Given the description of an element on the screen output the (x, y) to click on. 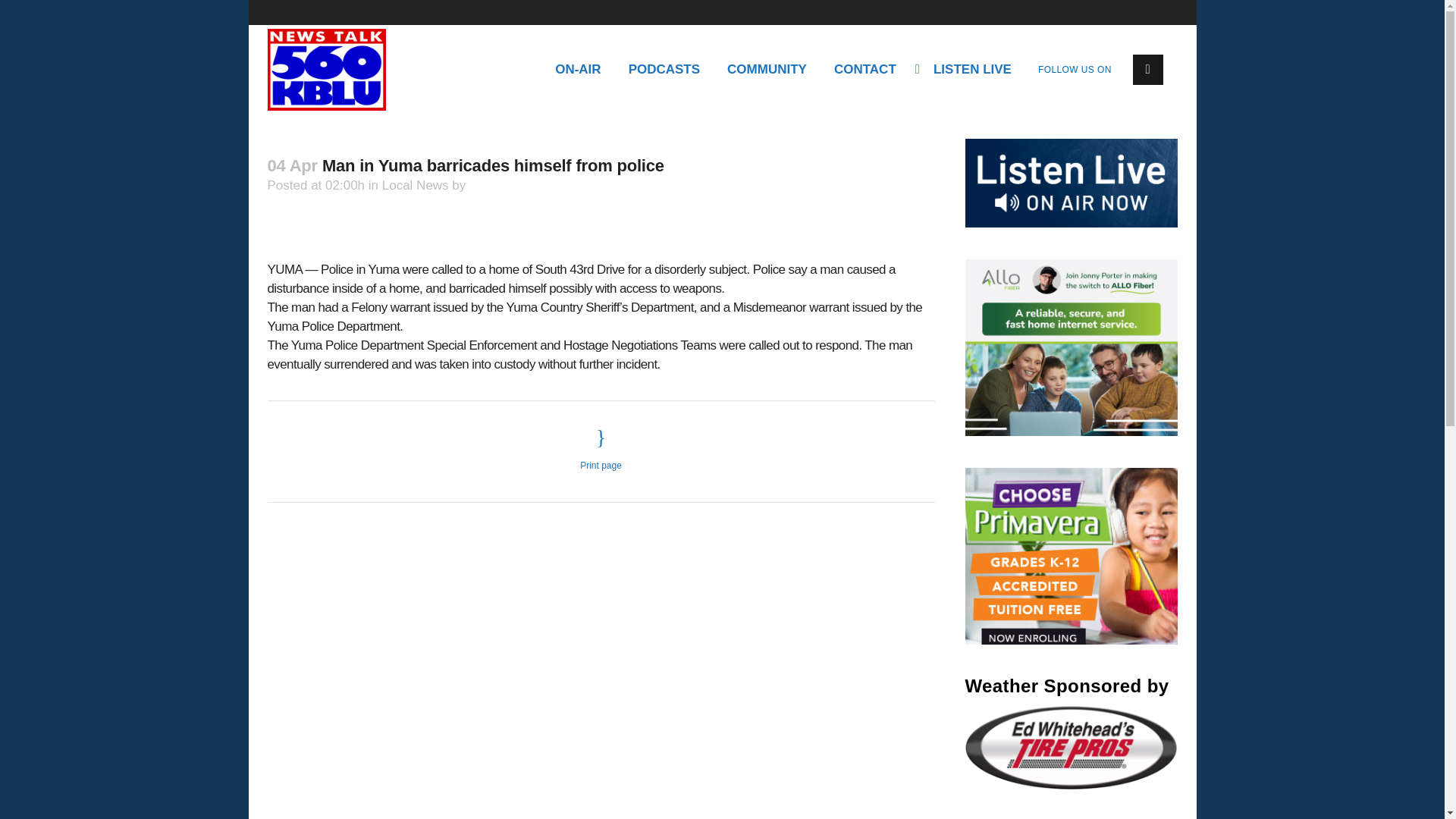
Print page (600, 448)
PODCASTS (663, 69)
COMMUNITY (767, 69)
Local News (414, 185)
LISTEN LIVE (967, 69)
ON-AIR (577, 69)
CONTACT (865, 69)
